Given the description of an element on the screen output the (x, y) to click on. 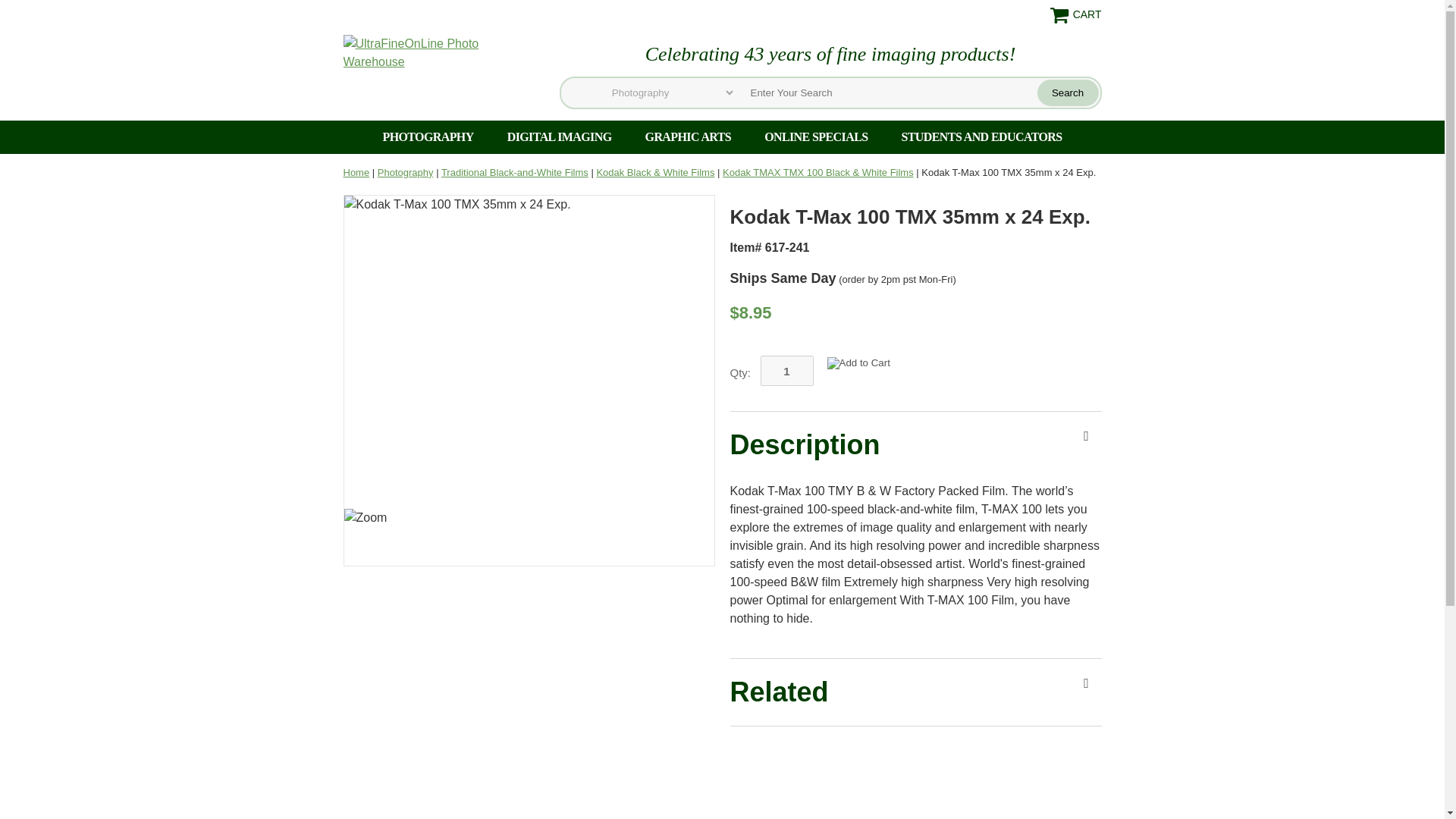
1 (786, 370)
Add to Cart (858, 363)
DIGITAL IMAGING (559, 136)
Search (1067, 92)
GRAPHIC ARTS (688, 136)
PHOTOGRAPHY (427, 136)
Search (1067, 92)
UltraFineOnLine Photo Warehouse (438, 51)
CART (1075, 14)
